Given the description of an element on the screen output the (x, y) to click on. 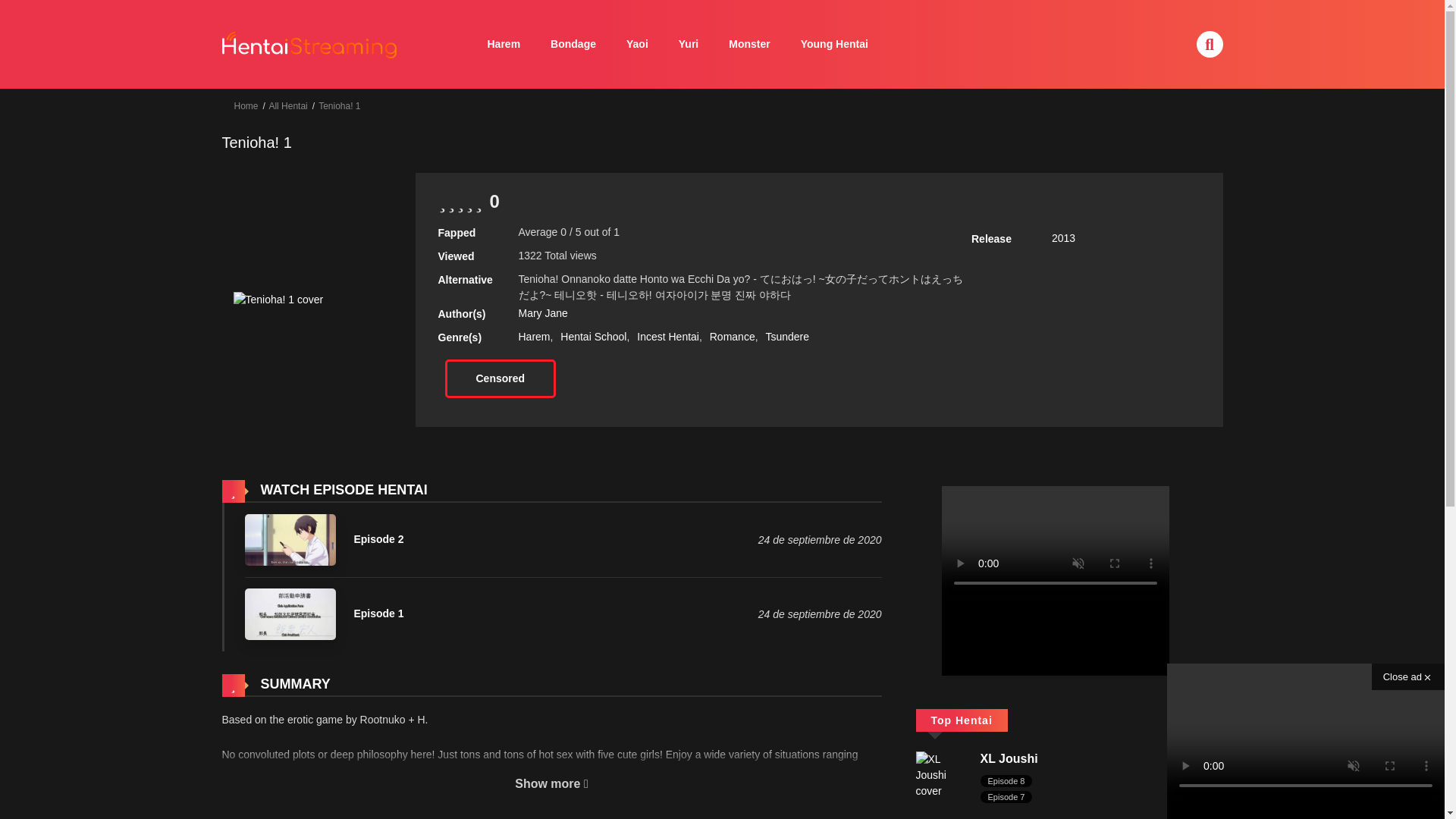
Romance (732, 336)
XL Joushi (940, 775)
Tsundere (787, 336)
Home (244, 105)
XL Joushi (1007, 758)
Tenioha! 1 (338, 105)
Hentai Stream (309, 42)
All Hentai (287, 105)
Bondage (573, 44)
Incest Hentai (667, 336)
Hentai School (593, 336)
Yuri (688, 44)
Young Hentai (834, 44)
Harem (534, 336)
Harem (503, 44)
